Given the description of an element on the screen output the (x, y) to click on. 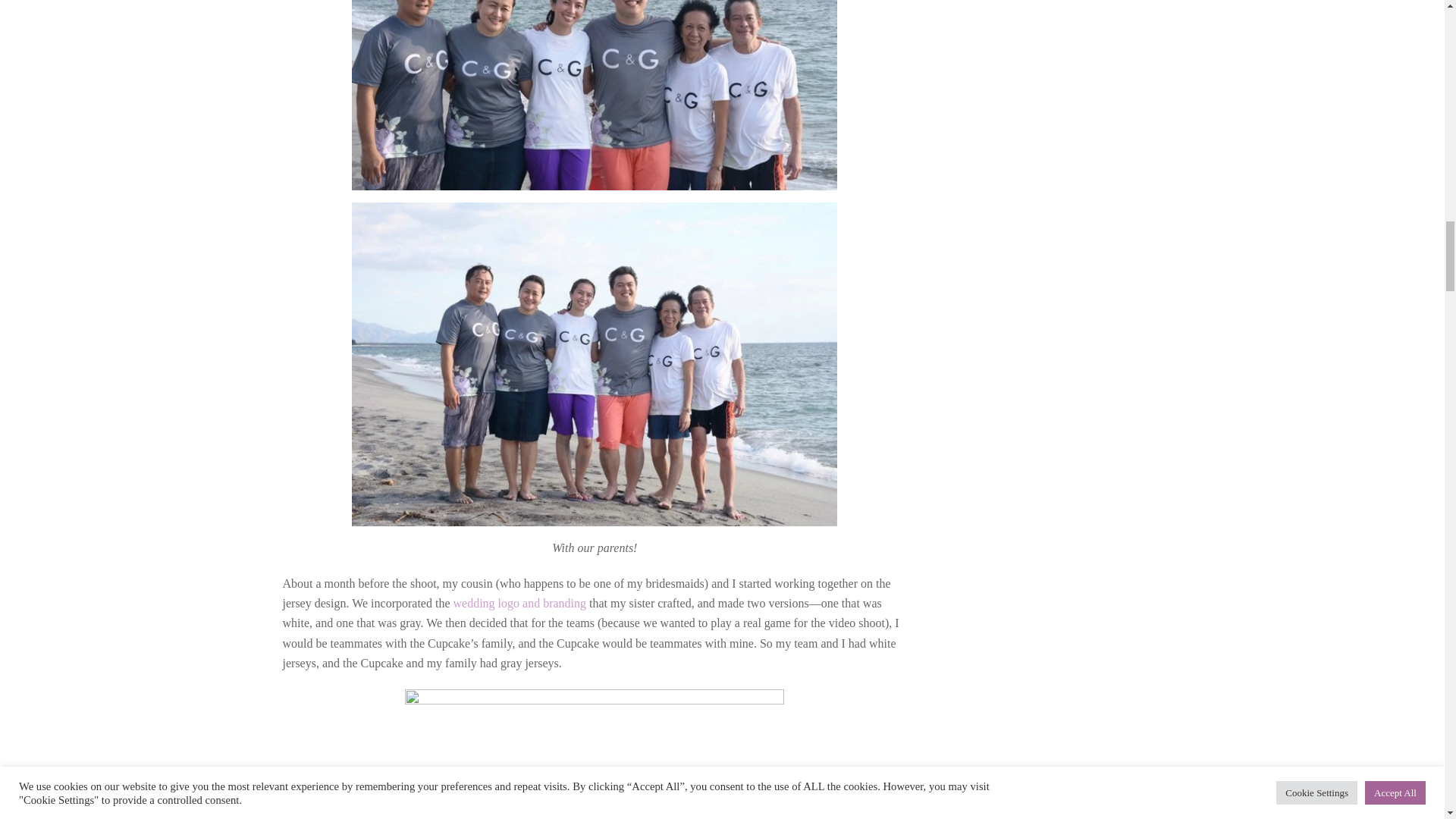
wedding logo and branding (519, 603)
